Given the description of an element on the screen output the (x, y) to click on. 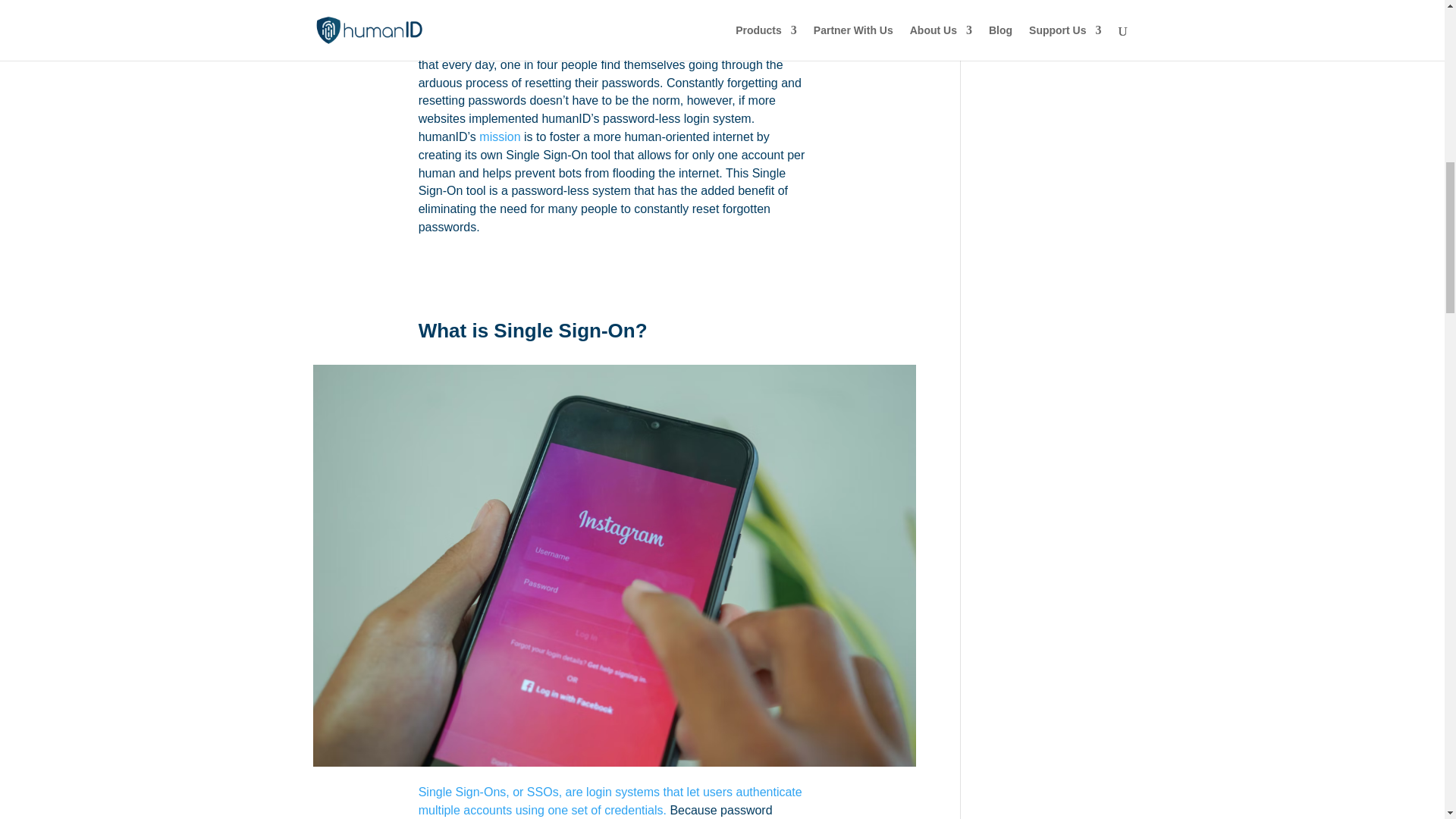
mission (499, 136)
